Given the description of an element on the screen output the (x, y) to click on. 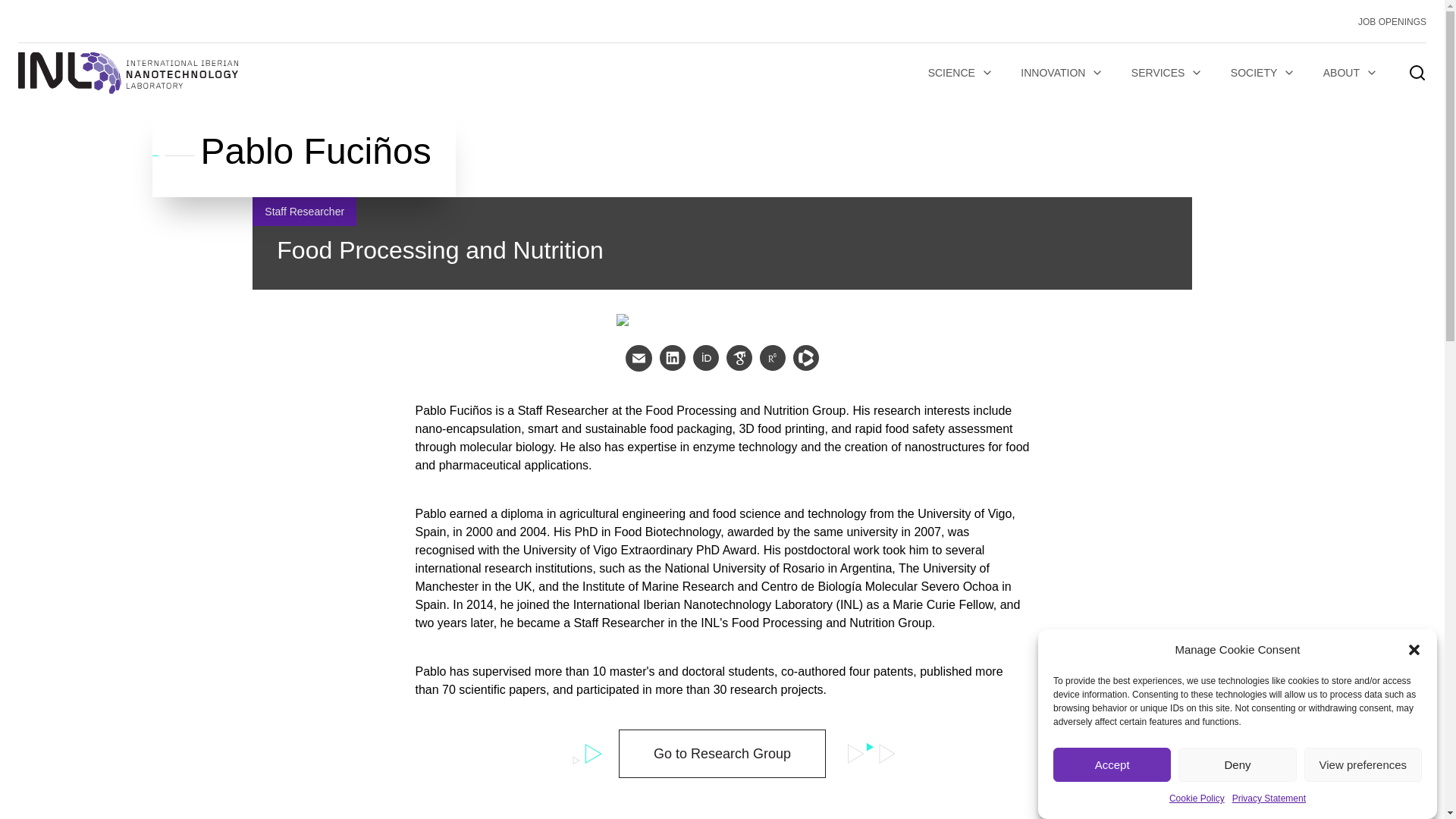
INNOVATION (1062, 72)
SOCIETY (1262, 72)
SERVICES (1167, 72)
INL home (127, 73)
Subscribe (331, 589)
SCIENCE (960, 72)
